Given the description of an element on the screen output the (x, y) to click on. 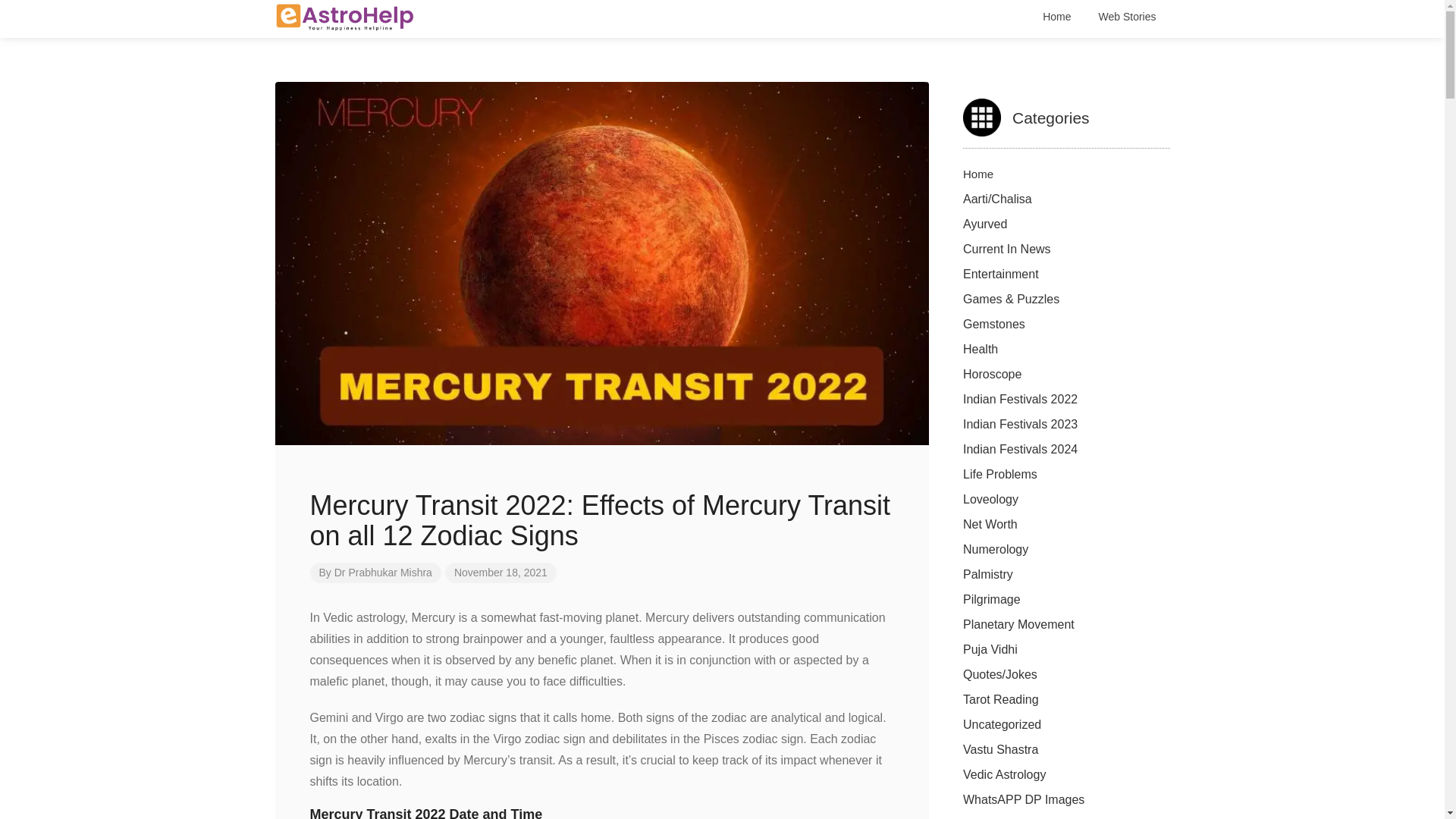
Life Problems (999, 473)
Net Worth (989, 523)
Entertainment (1000, 273)
Ayurved (984, 223)
Current In News (1006, 248)
Horoscope (992, 373)
Tarot Reading (1000, 698)
Uncategorized (1001, 724)
Indian Festivals 2022 (1019, 399)
Palmistry (987, 574)
